Given the description of an element on the screen output the (x, y) to click on. 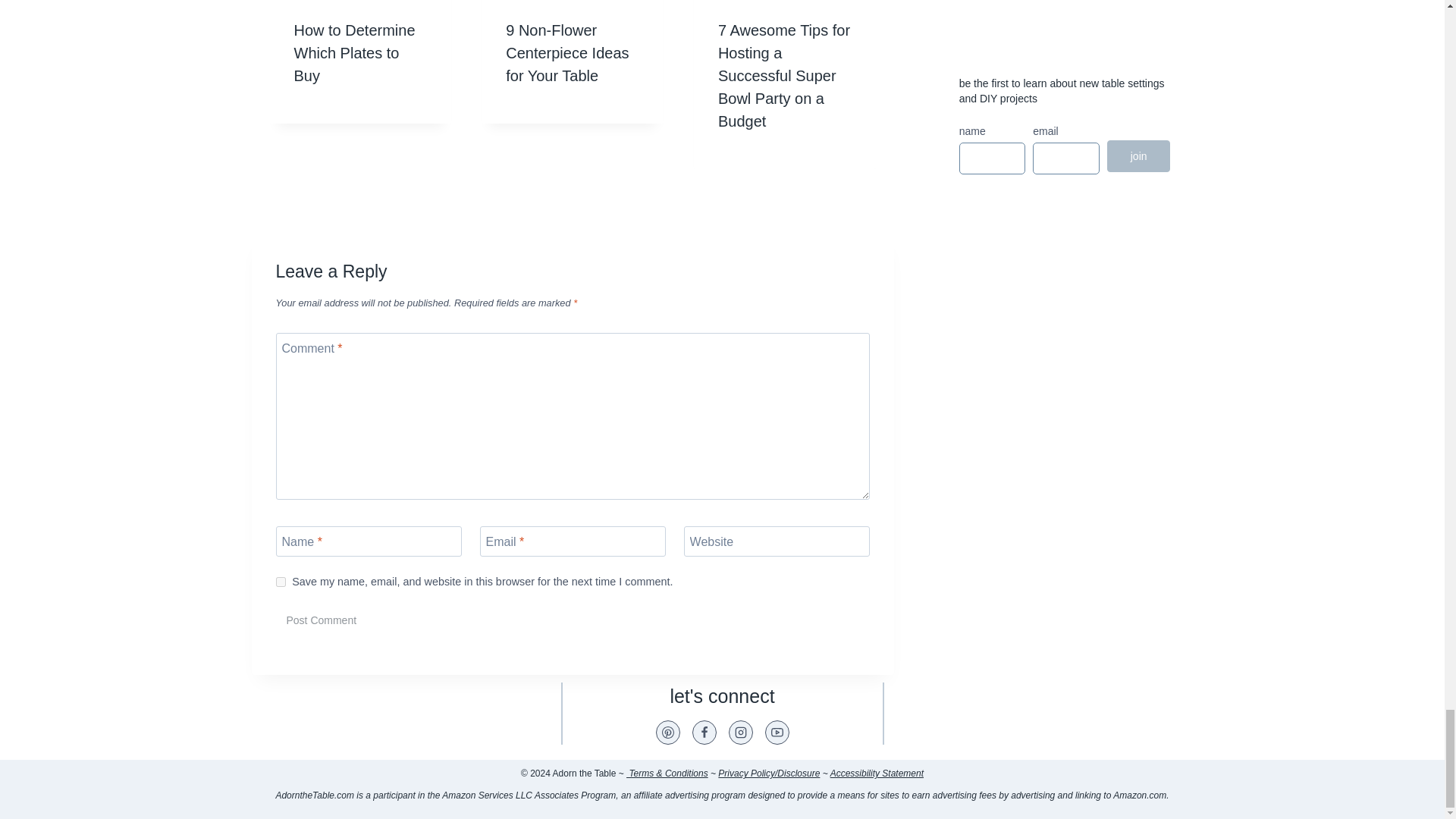
yes (280, 582)
Post Comment (322, 620)
